Given the description of an element on the screen output the (x, y) to click on. 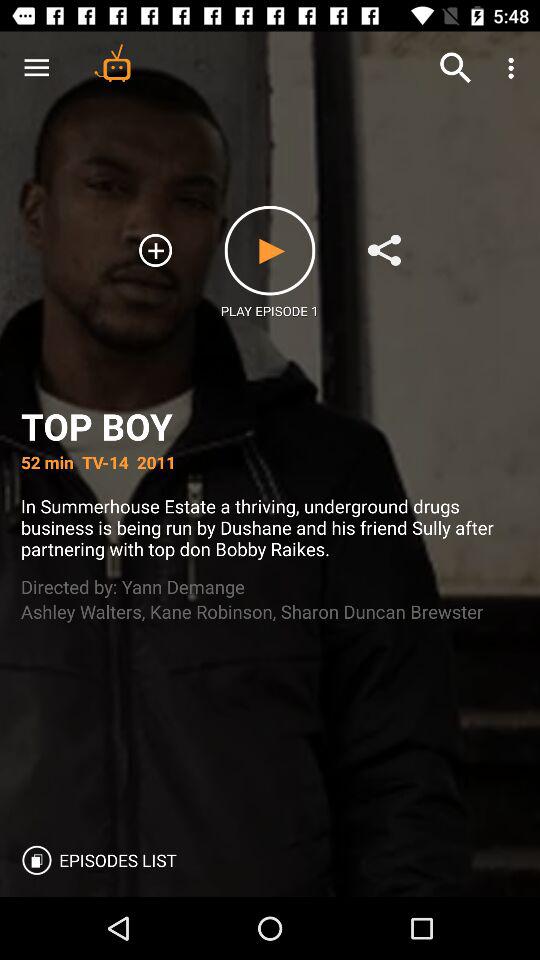
choose the item above the top boy item (383, 250)
